Given the description of an element on the screen output the (x, y) to click on. 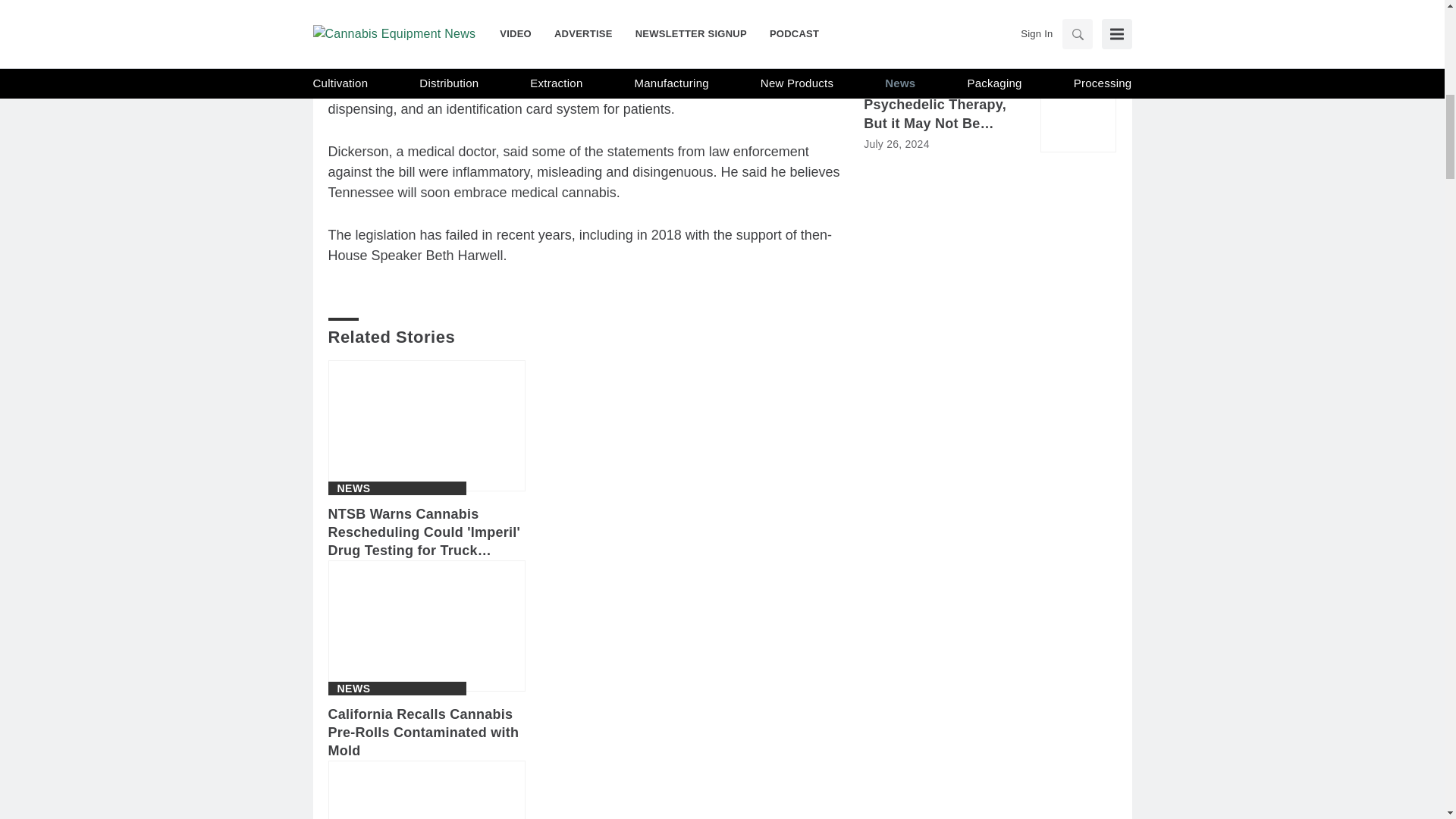
News (352, 488)
News (352, 688)
